Given the description of an element on the screen output the (x, y) to click on. 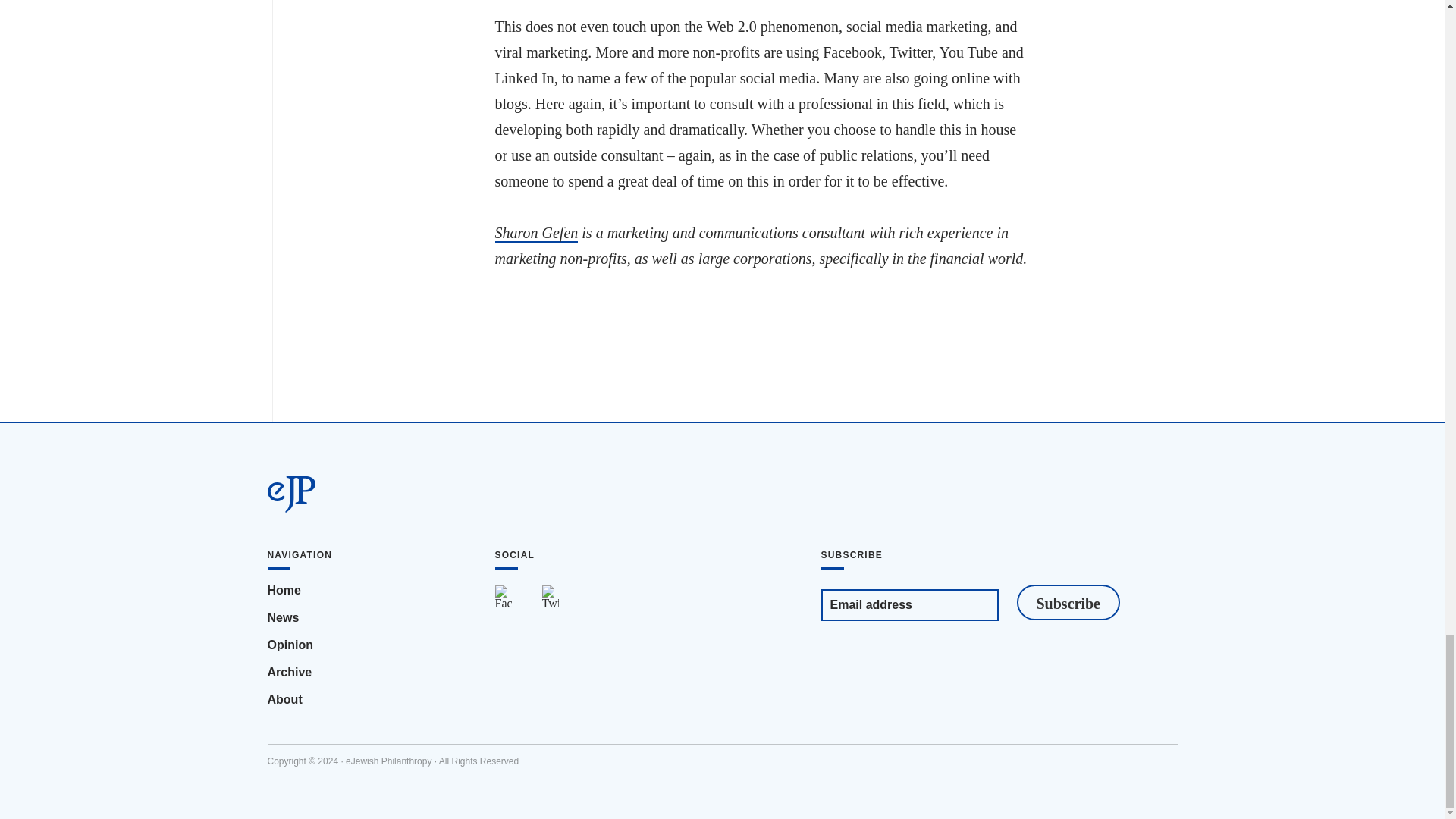
Sharon Gefen (536, 233)
